Given the description of an element on the screen output the (x, y) to click on. 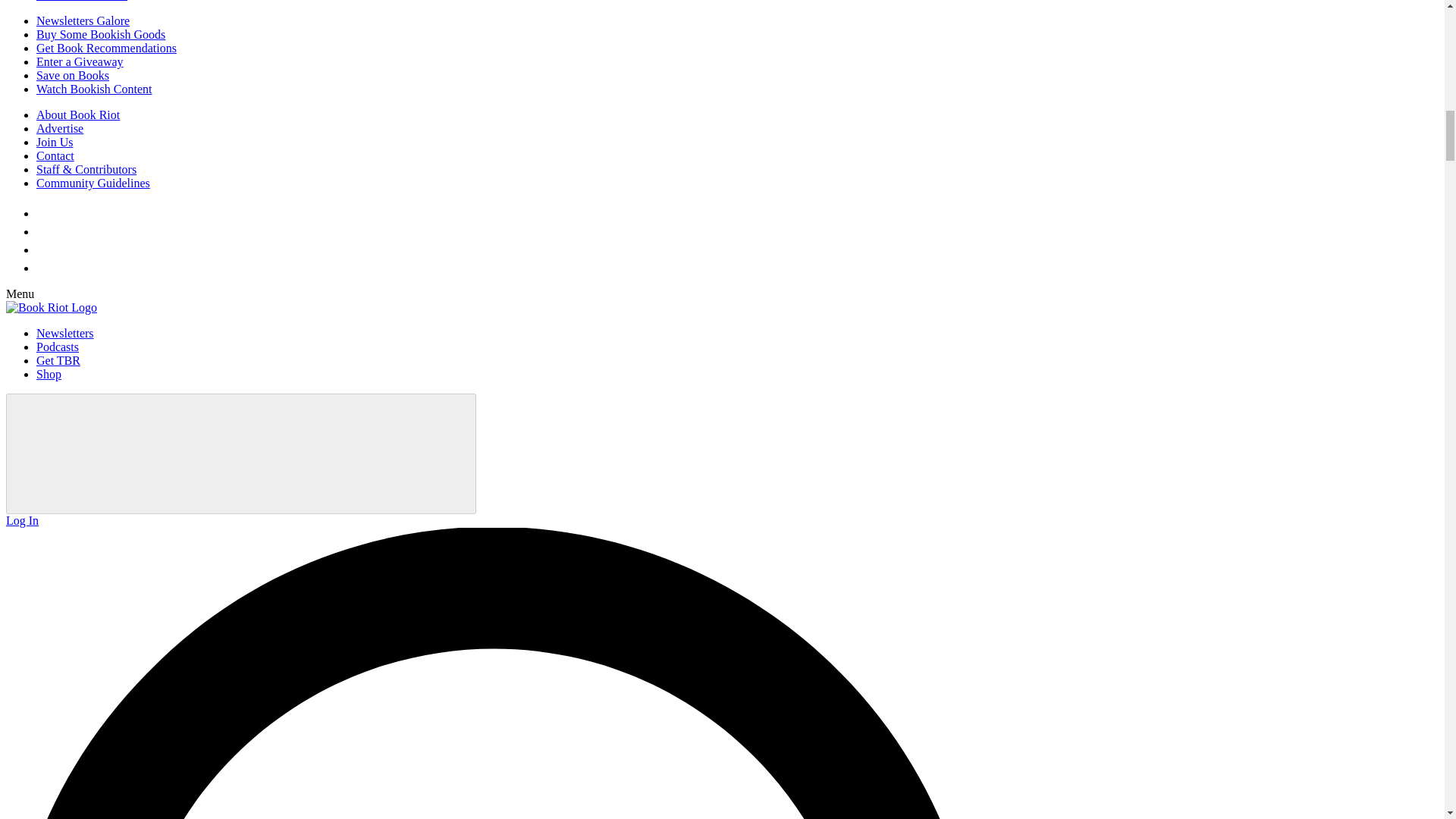
Advertise (59, 128)
Join Us (54, 141)
Save on Books (72, 74)
Buy Some Bookish Goods (100, 33)
About Book Riot (77, 114)
Enter a Giveaway (79, 61)
Get TBR (58, 359)
Shop (48, 373)
Watch Bookish Content (93, 88)
Get Book Recommendations (106, 47)
